Given the description of an element on the screen output the (x, y) to click on. 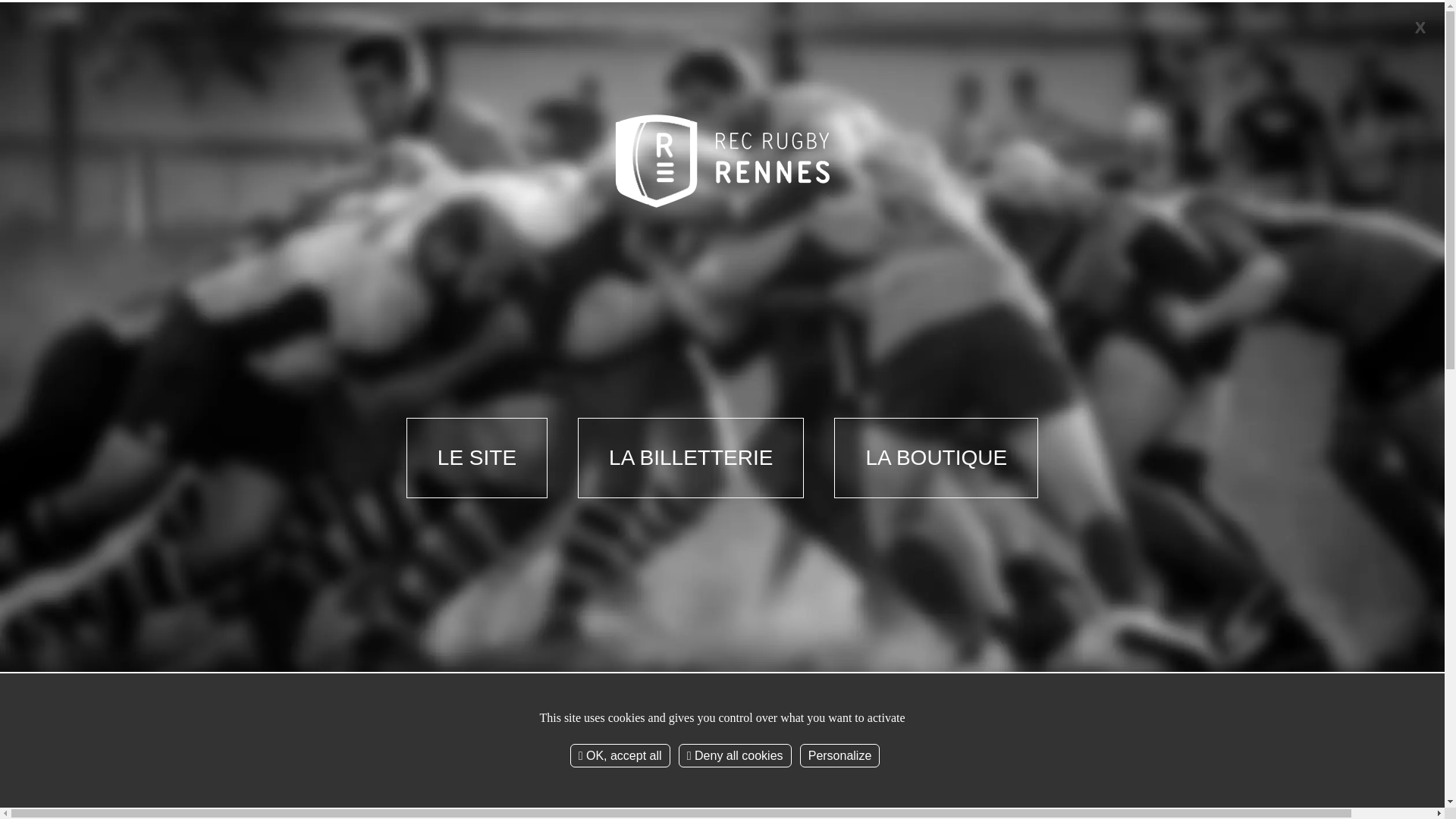
LE SITE Element type: text (476, 457)
LA BILLETTERIE Element type: text (690, 457)
Formation Element type: text (635, 161)
Personalize Element type: text (840, 755)
Partenaires Element type: text (774, 161)
Deny all cookies Element type: text (734, 755)
Le club Element type: text (358, 161)
Accueil Element type: text (304, 362)
OK, accept all Element type: text (620, 755)
Nationale 2 Element type: text (497, 161)
X Element type: text (1420, 26)
Boutique Element type: text (1050, 161)
Billetterie Element type: text (912, 161)
LA BOUTIQUE Element type: text (936, 457)
